Given the description of an element on the screen output the (x, y) to click on. 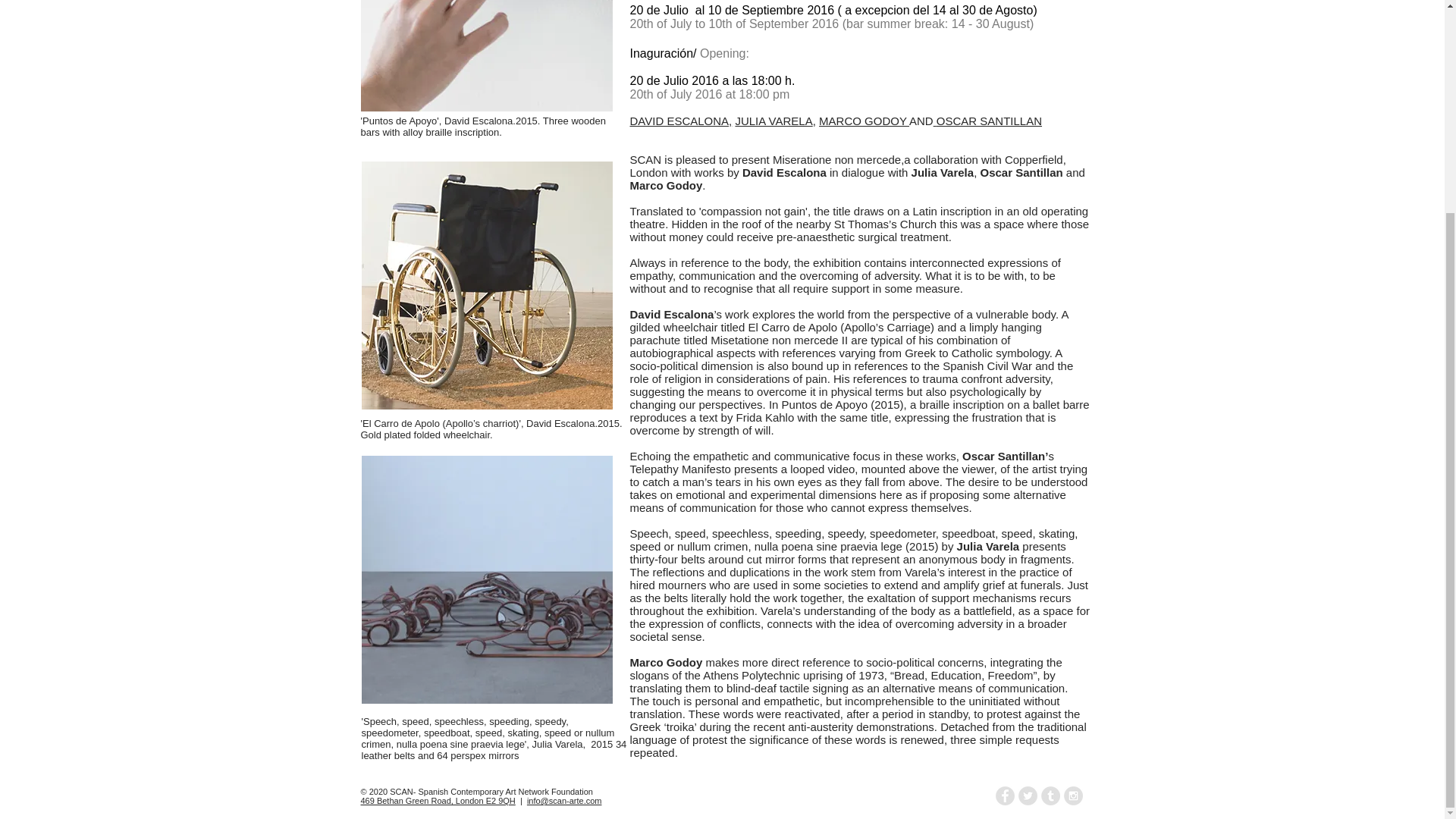
4347348.jpg (486, 55)
469 Bethan Green Road, London E2 9QH (438, 800)
DAVID ESCALONA (678, 120)
1837051.jpg (486, 579)
MARCO GODOY (863, 120)
Facebook Like (870, 795)
